Given the description of an element on the screen output the (x, y) to click on. 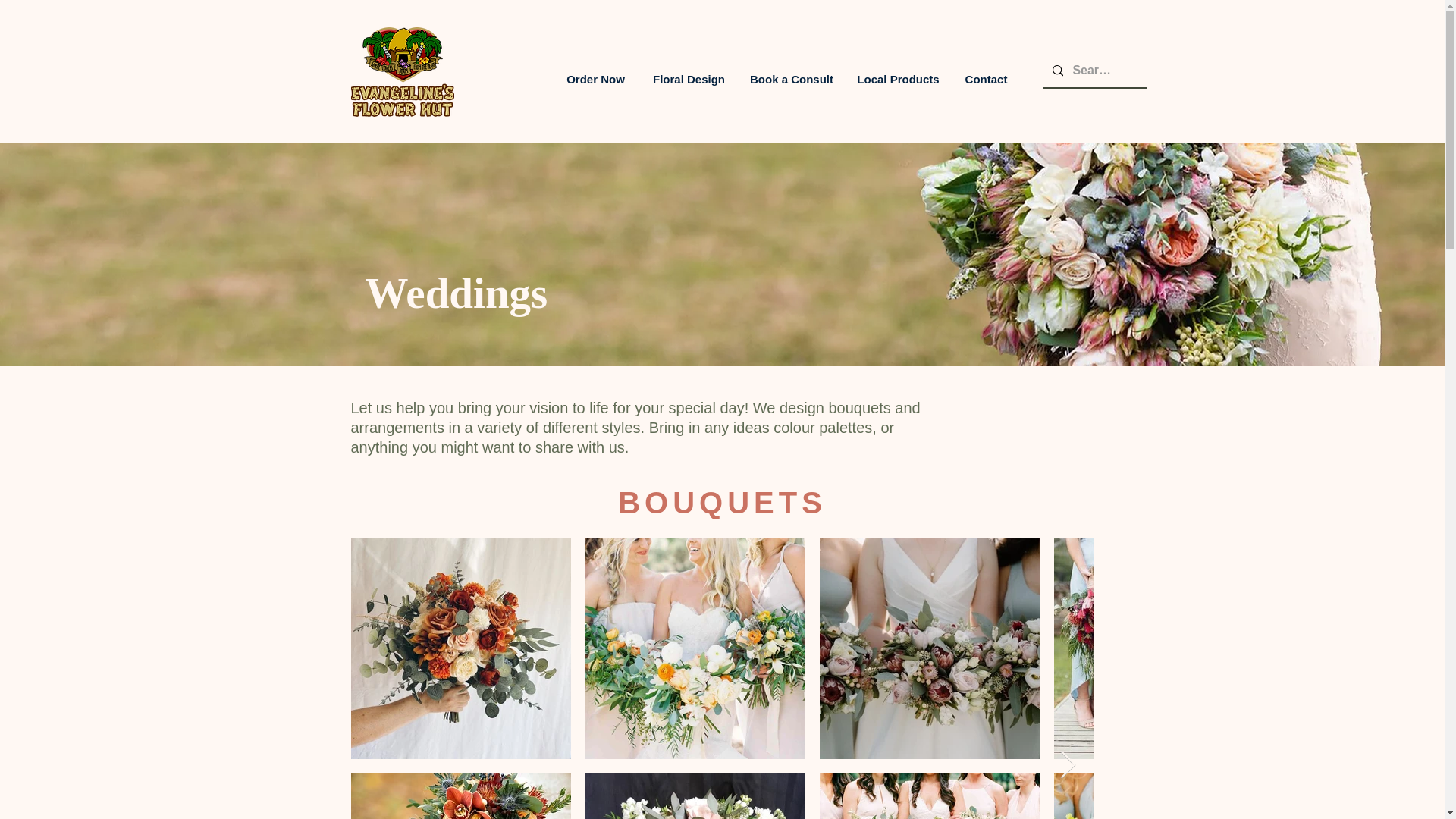
Contact (986, 79)
Order Now (595, 79)
Floral Design (689, 79)
Local Products (897, 79)
